Given the description of an element on the screen output the (x, y) to click on. 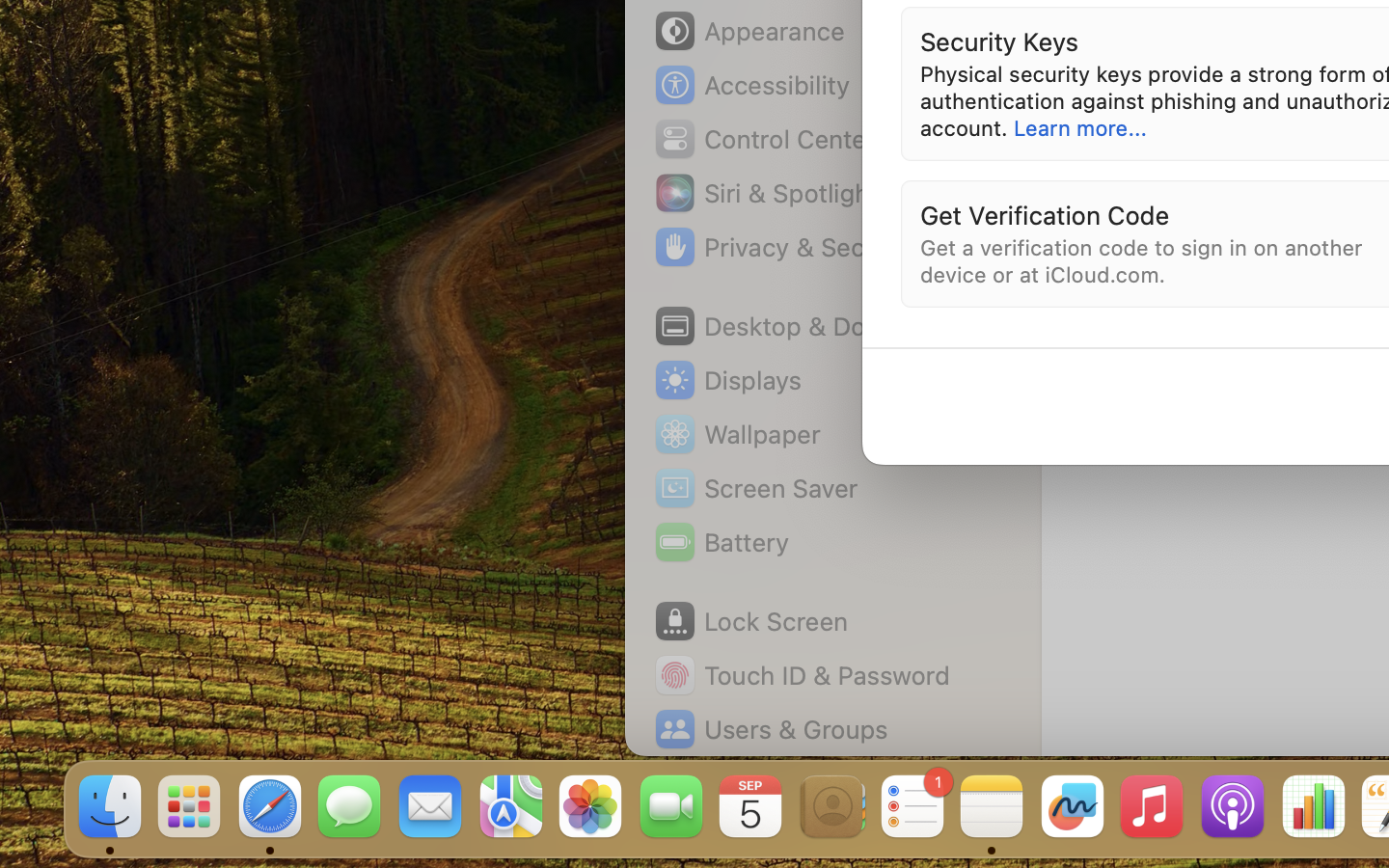
Displays Element type: AXStaticText (727, 379)
Control Center Element type: AXStaticText (763, 138)
Get a verification code to sign in on another device or at iCloud.com. Element type: AXStaticText (1144, 260)
Get Verification Code Element type: AXStaticText (1044, 213)
Siri & Spotlight Element type: AXStaticText (764, 192)
